Given the description of an element on the screen output the (x, y) to click on. 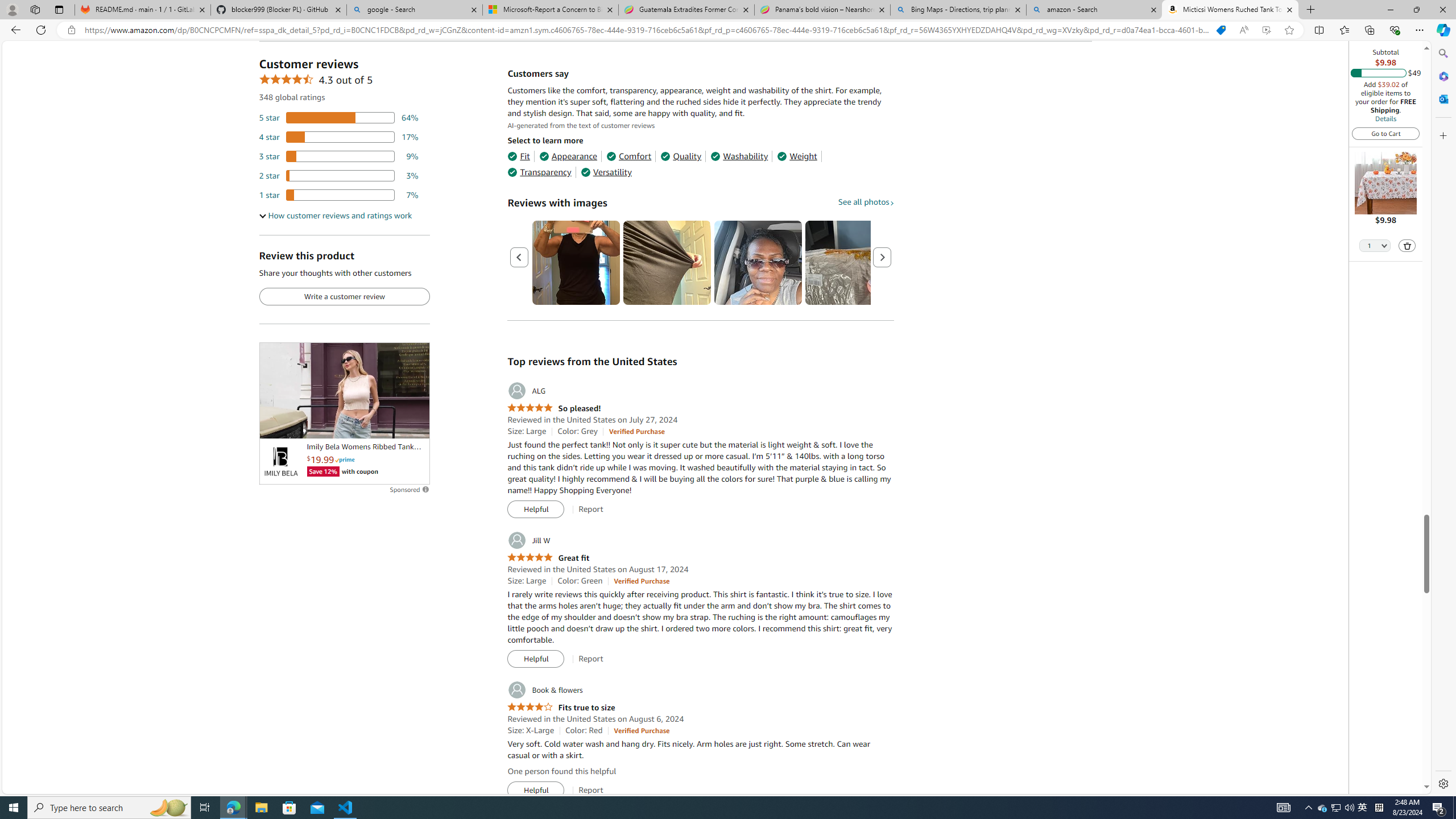
Quality (681, 156)
Comfort (628, 156)
Logo (280, 461)
17 percent of reviews have 4 stars (339, 137)
Book & flowers (544, 690)
Unmute (414, 424)
Prime (344, 459)
